Given the description of an element on the screen output the (x, y) to click on. 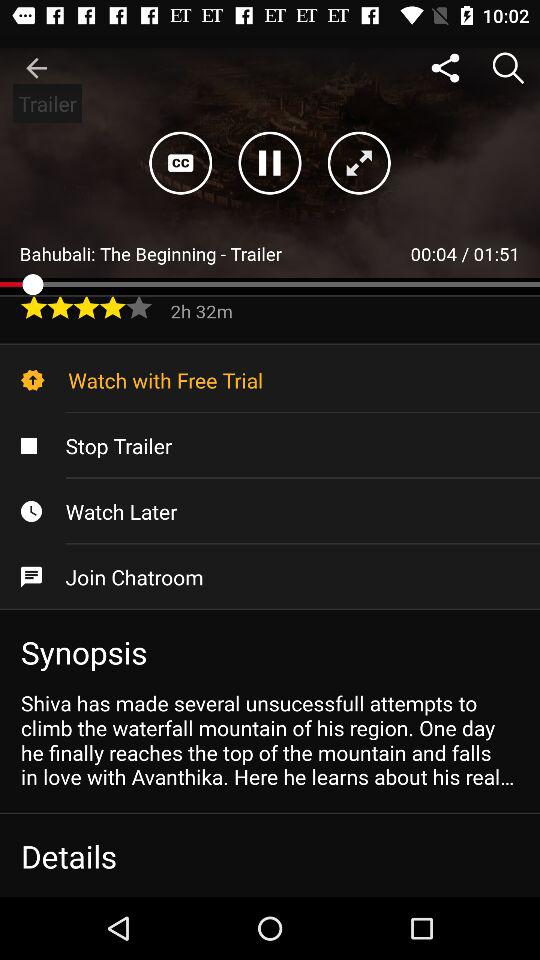
click the icon right to pause icon at the top of the page (358, 163)
click on search icon (508, 68)
click the pause icon at the top center of the page (270, 163)
